Given the description of an element on the screen output the (x, y) to click on. 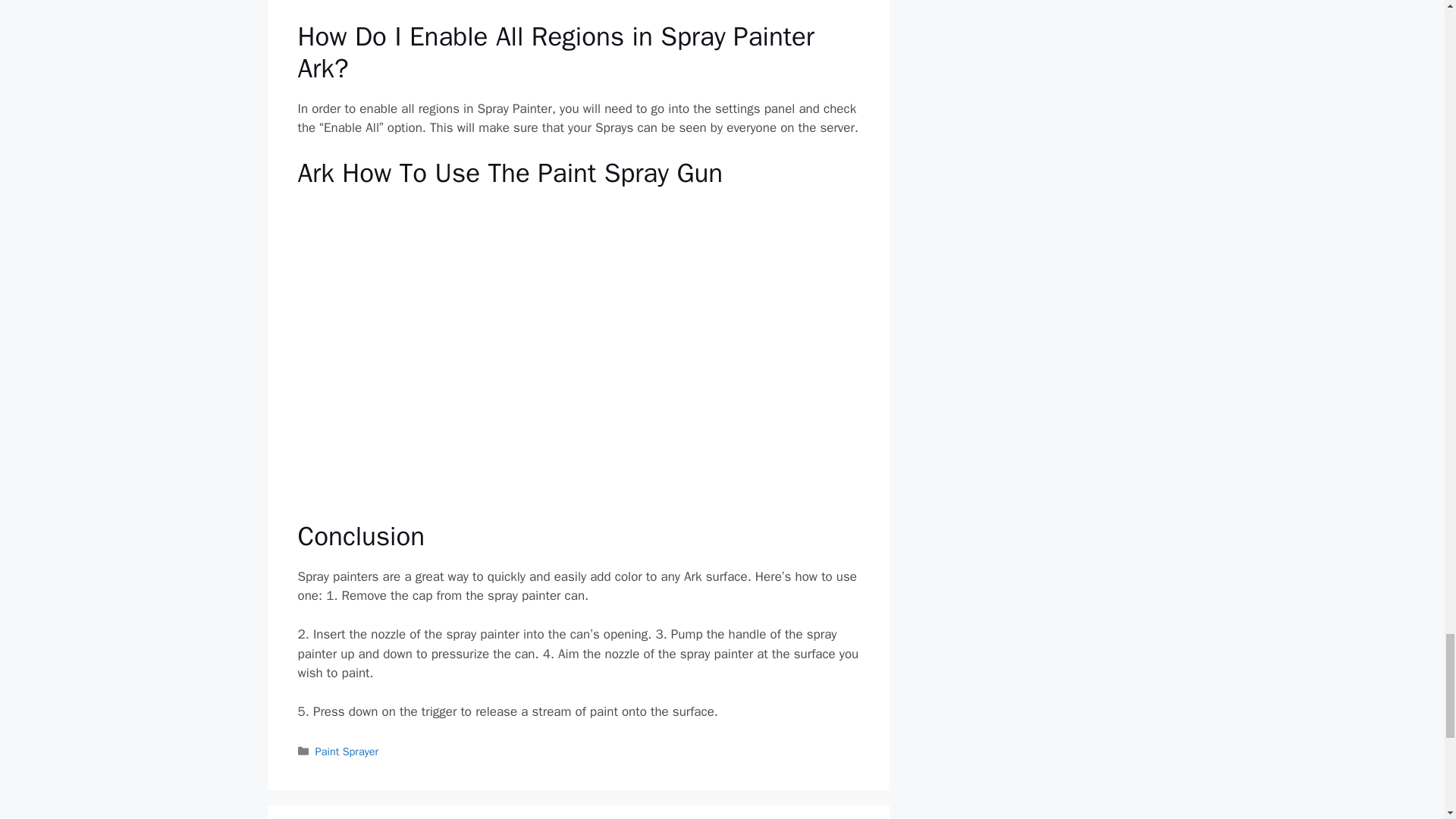
Paint Sprayer (346, 751)
